Given the description of an element on the screen output the (x, y) to click on. 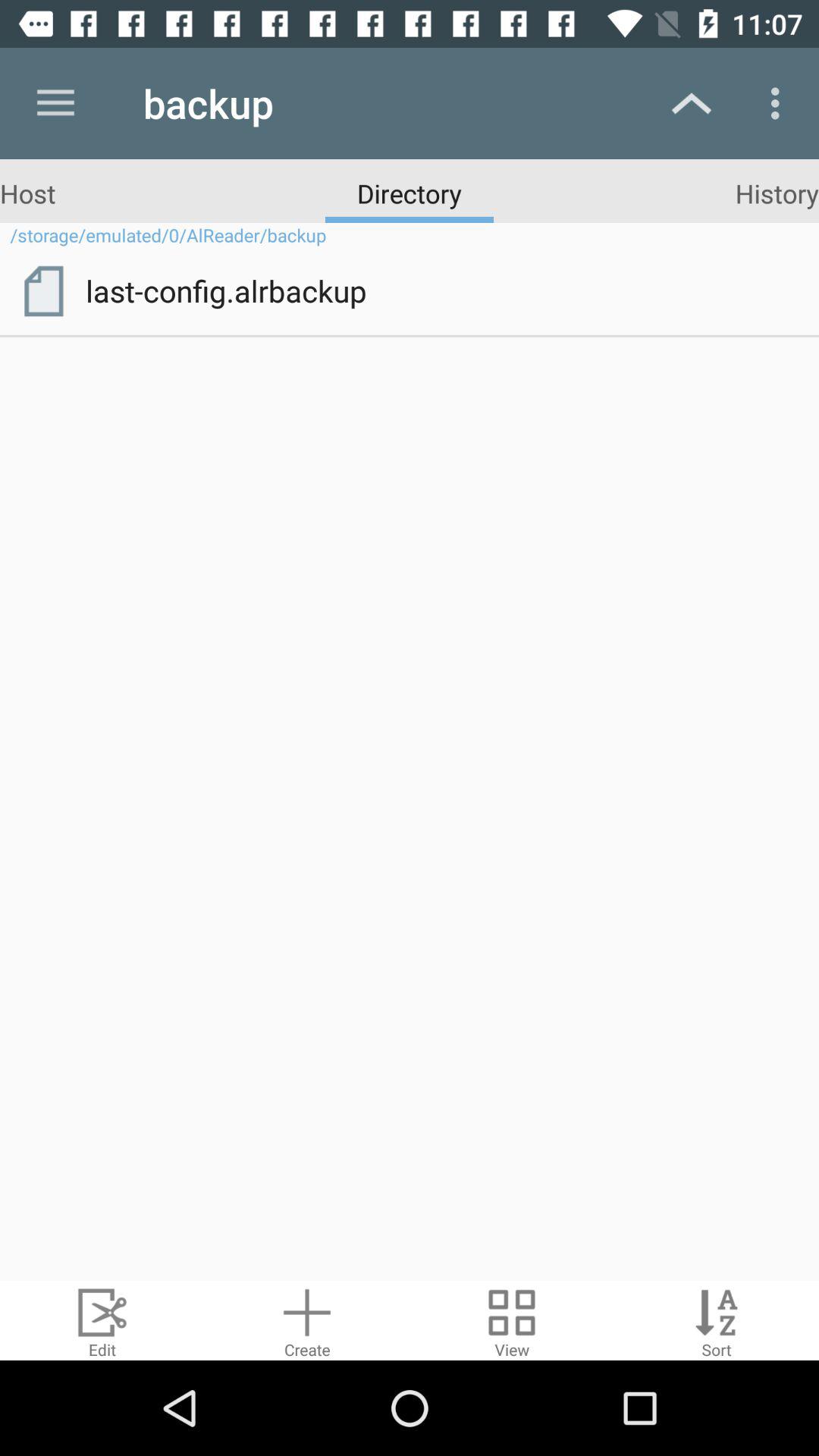
the view bar (511, 1320)
